Given the description of an element on the screen output the (x, y) to click on. 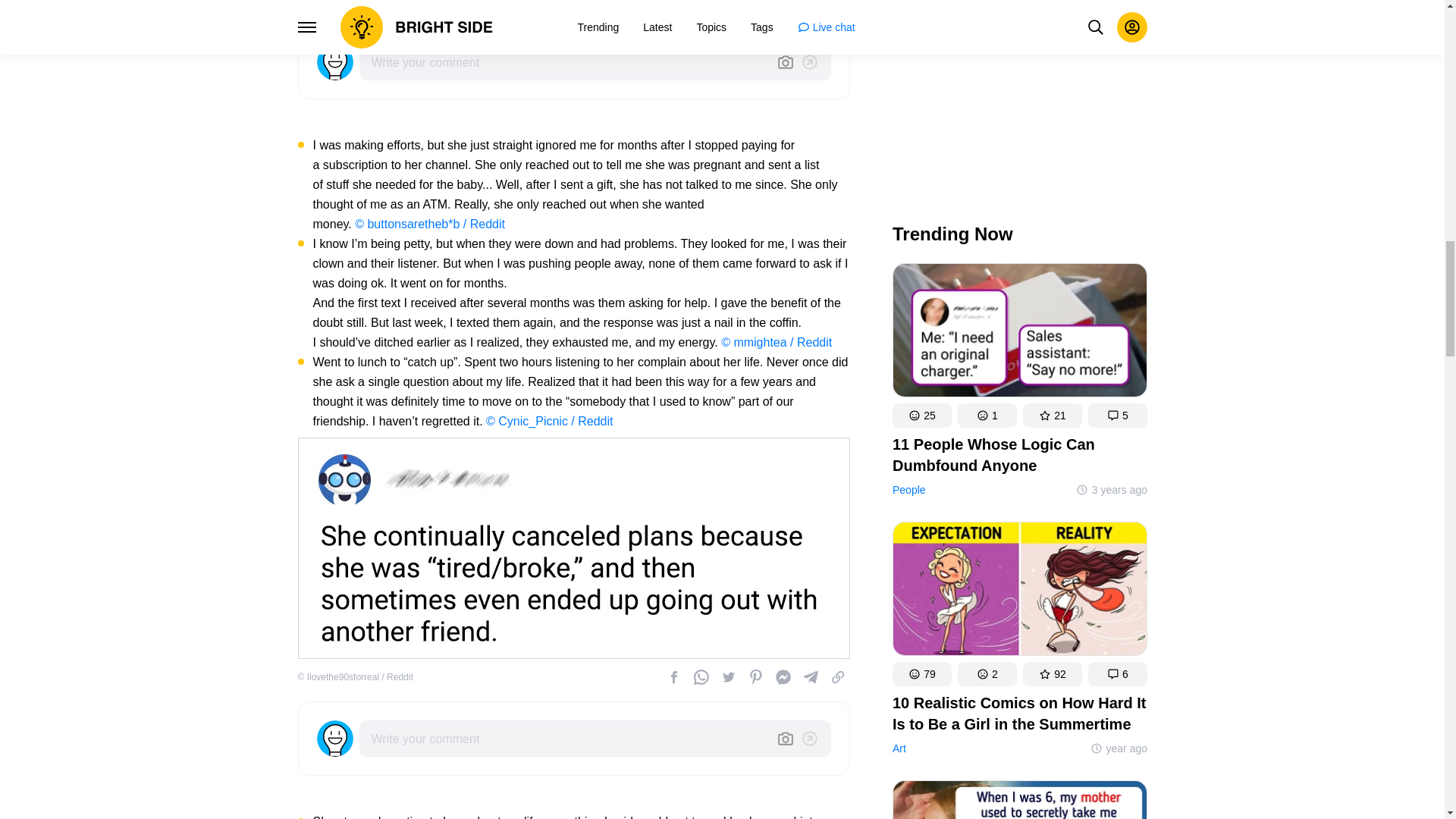
Share on WhatsApp (700, 6)
Share on Telegram (809, 6)
Copy link (836, 6)
Share on WhatsApp (700, 677)
Share on Facebook (782, 6)
Share on Twitter (727, 677)
Share on Facebook (673, 6)
Share on Pinterest (754, 6)
Share on Twitter (727, 6)
Share on Facebook (673, 677)
